Given the description of an element on the screen output the (x, y) to click on. 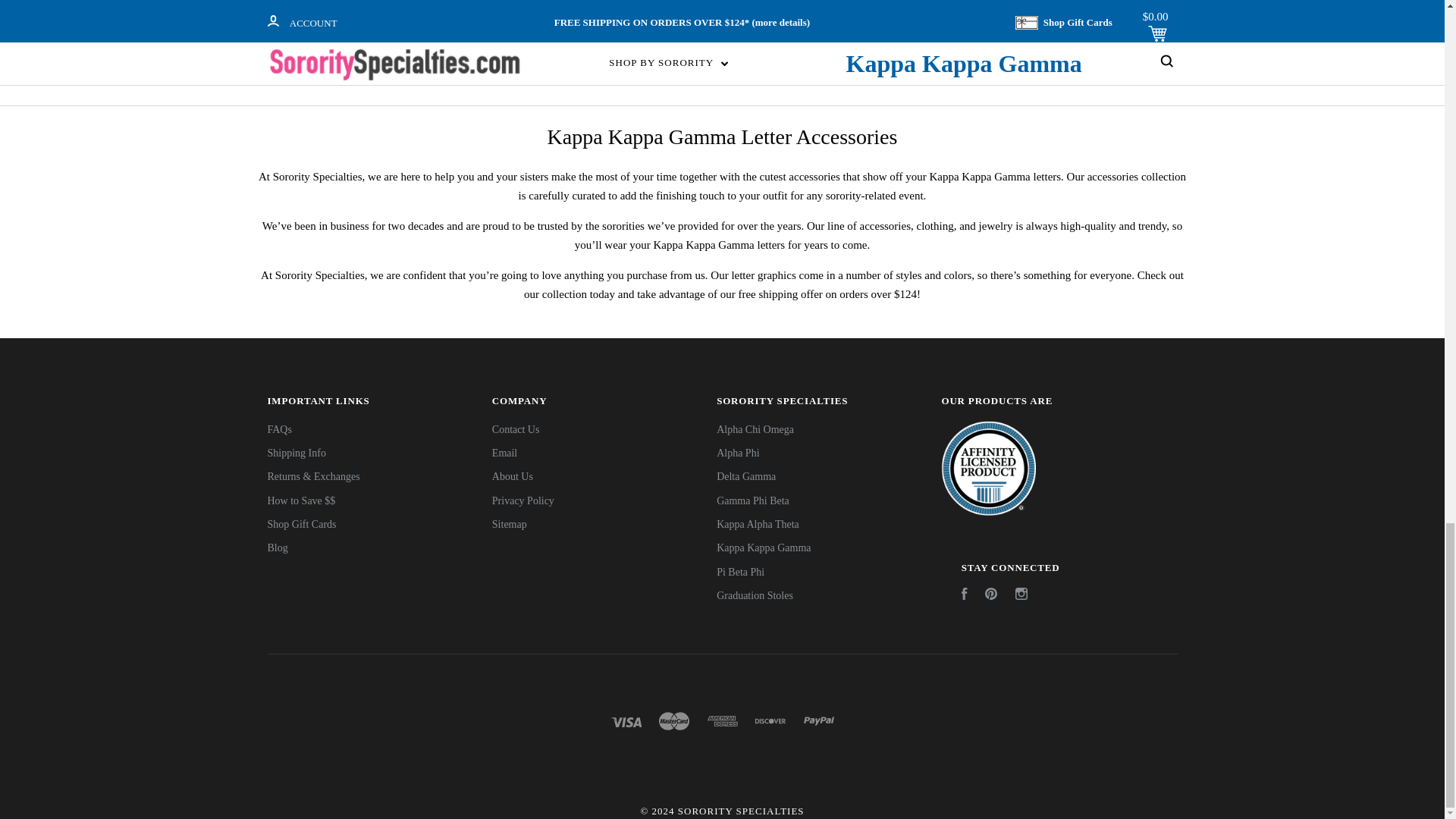
instagram (1020, 593)
pinterest (991, 593)
Officially Licensed (987, 467)
